Given the description of an element on the screen output the (x, y) to click on. 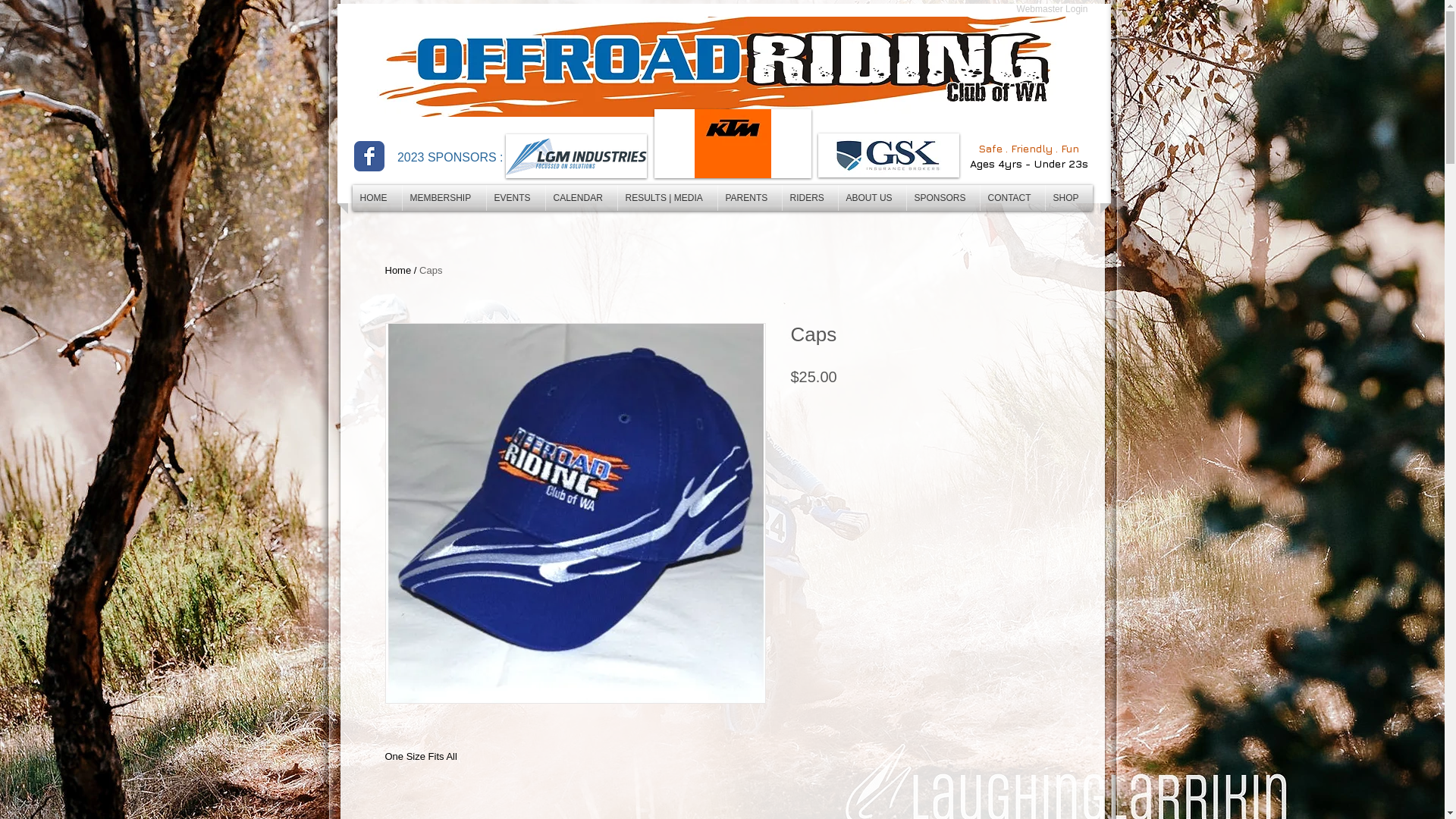
PARENTS Element type: text (749, 197)
CONTACT Element type: text (1011, 197)
Webmaster Login Element type: text (1051, 8)
RESULTS | MEDIA Element type: text (666, 197)
ABOUT US Element type: text (872, 197)
CALENDAR Element type: text (581, 197)
MEMBERSHIP Element type: text (443, 197)
Home Element type: text (398, 270)
HOME Element type: text (376, 197)
EVENTS Element type: text (515, 197)
SPONSORS Element type: text (942, 197)
RIDERS Element type: text (809, 197)
Caps Element type: text (430, 270)
SHOP Element type: text (1068, 197)
2023 SPONSORS Element type: text (446, 156)
